Given the description of an element on the screen output the (x, y) to click on. 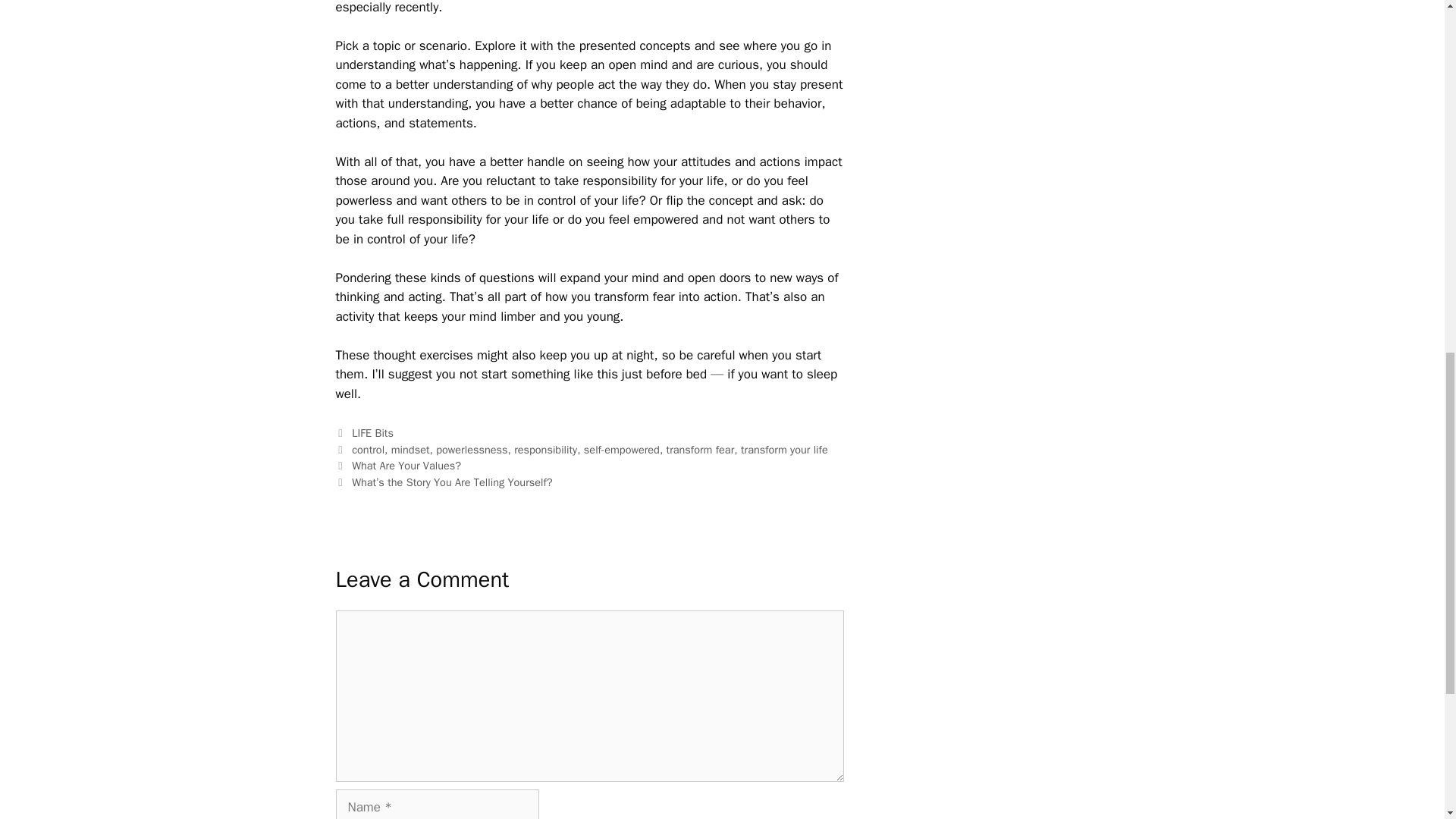
mindset (410, 449)
Advertisement (1036, 72)
LIFE Bits (372, 432)
What Are Your Values? (406, 465)
responsibility (544, 449)
transform your life (784, 449)
powerlessness (470, 449)
self-empowered (621, 449)
transform fear (700, 449)
control (368, 449)
